Given the description of an element on the screen output the (x, y) to click on. 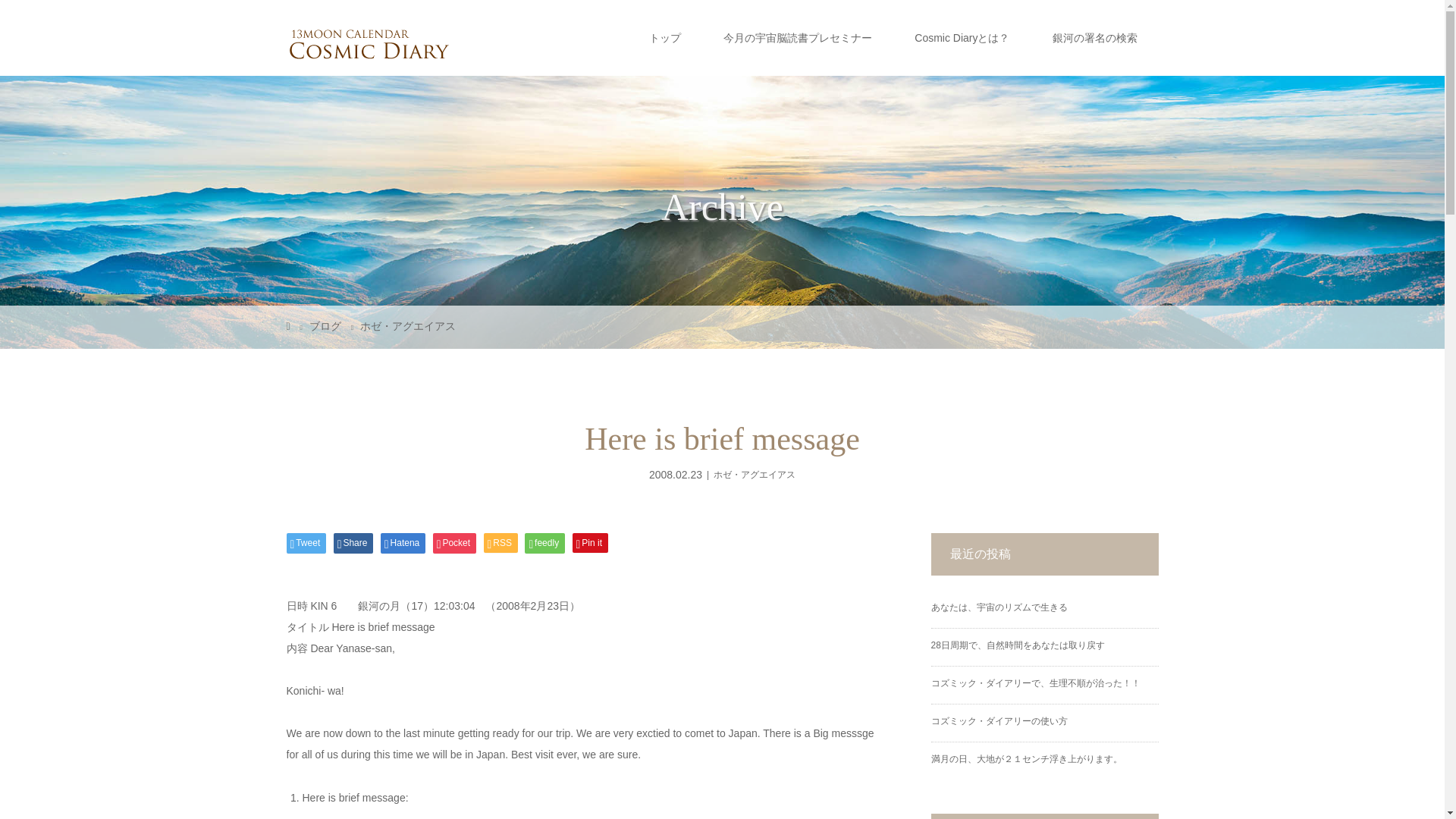
Share (353, 543)
Tweet (306, 543)
Pocket (454, 543)
Hatena (402, 543)
feedly (544, 543)
RSS (500, 542)
Pin it (590, 542)
